Given the description of an element on the screen output the (x, y) to click on. 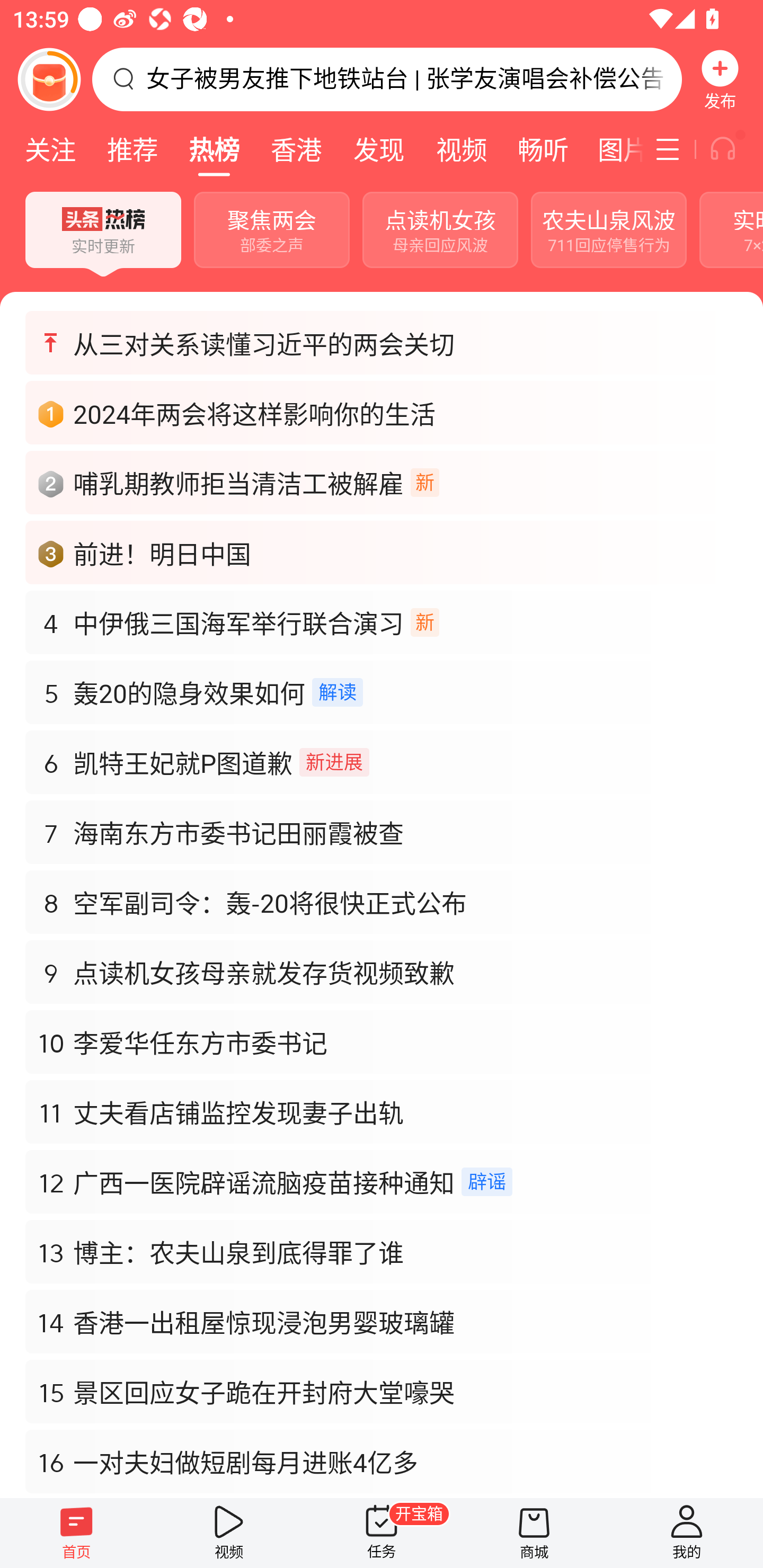
阅读赚金币 (48, 79)
发布 发布，按钮 (720, 78)
关注 (50, 149)
推荐 (132, 149)
热榜 (213, 149)
香港 (295, 149)
发现 (378, 149)
视频 (461, 149)
畅听 (542, 149)
图片 (613, 149)
听一听开关 (732, 149)
首页 (76, 1532)
视频 (228, 1532)
任务 开宝箱 (381, 1532)
商城 (533, 1532)
我的 (686, 1532)
